Given the description of an element on the screen output the (x, y) to click on. 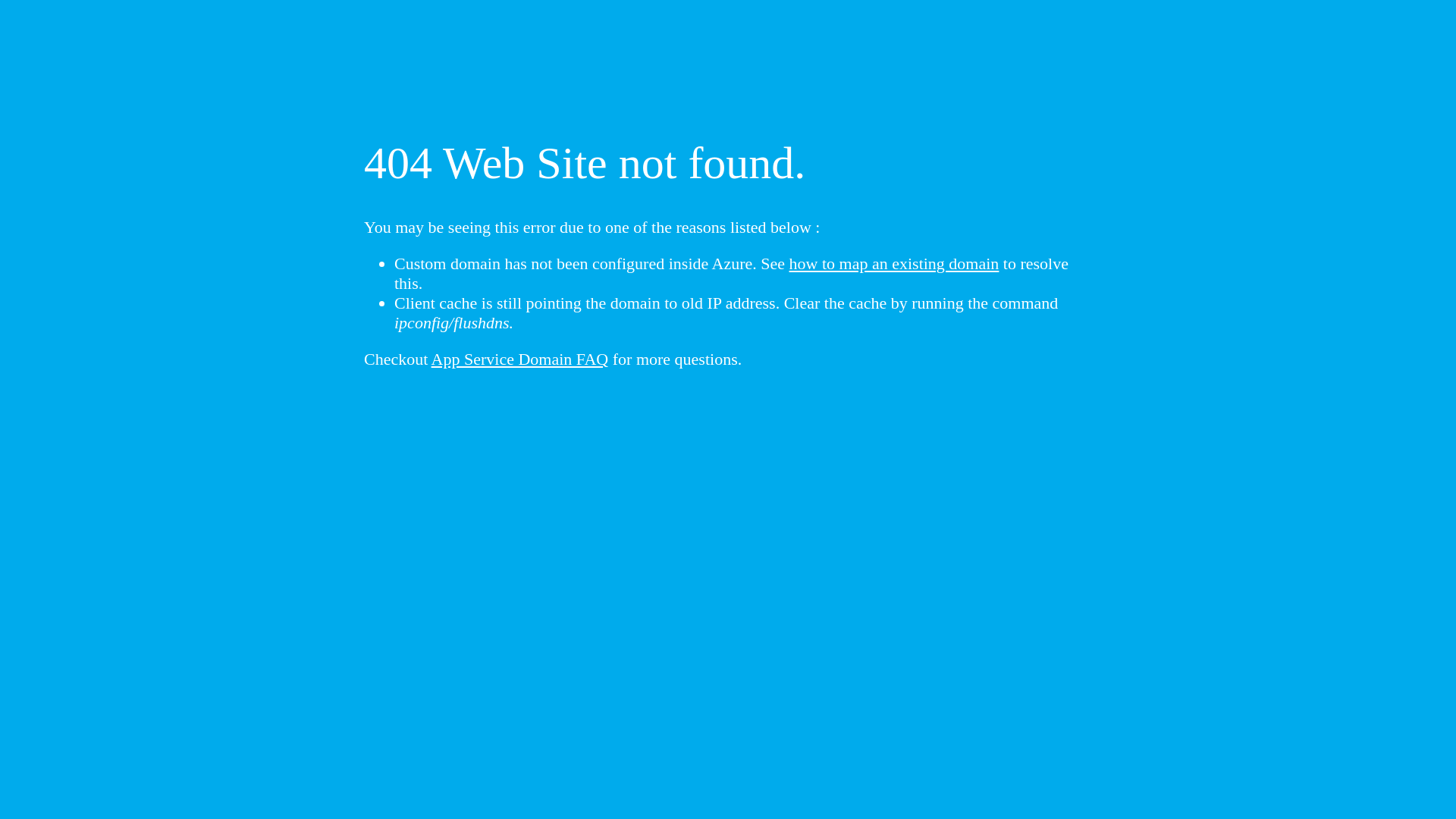
App Service Domain FAQ Element type: text (519, 358)
how to map an existing domain Element type: text (894, 263)
